Given the description of an element on the screen output the (x, y) to click on. 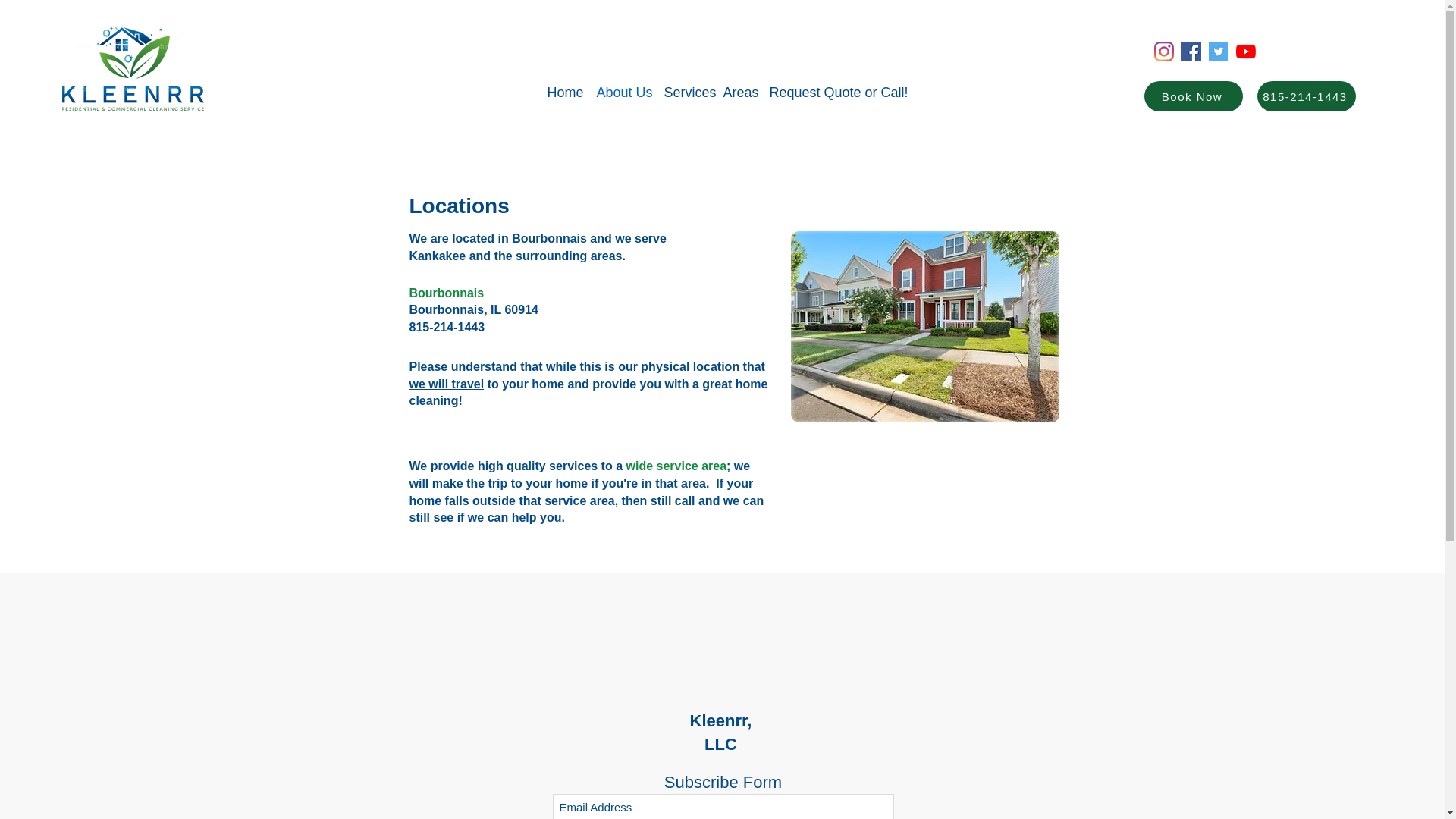
Kleenrr, LLC (721, 732)
Book Now (1193, 96)
815-214-1443 (1306, 96)
Areas (738, 92)
Home (564, 92)
Request Quote or Call! (831, 92)
Services (686, 92)
About Us (622, 92)
